Given the description of an element on the screen output the (x, y) to click on. 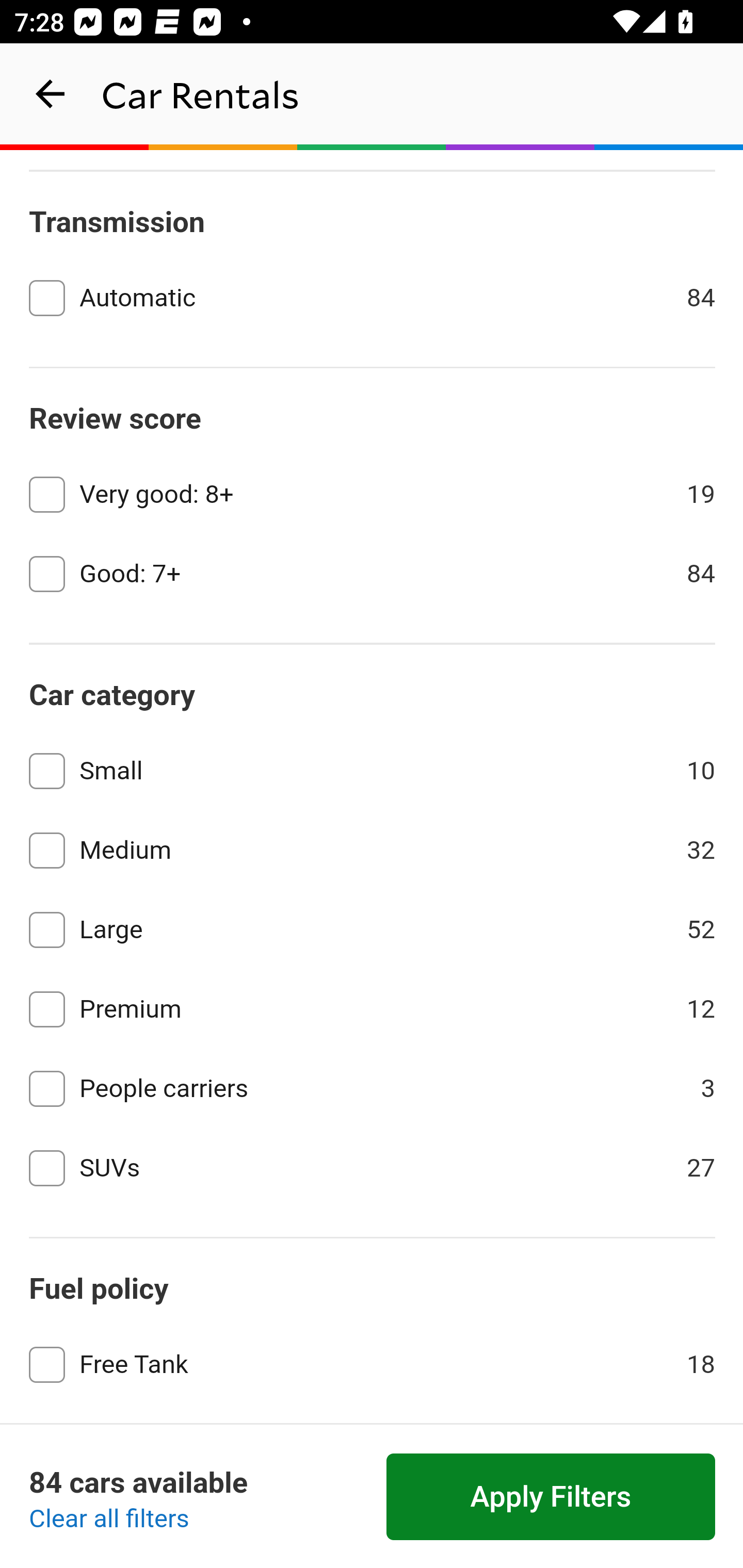
navigation_button (50, 93)
Apply Filters (551, 1497)
Clear all filters (108, 1519)
